Given the description of an element on the screen output the (x, y) to click on. 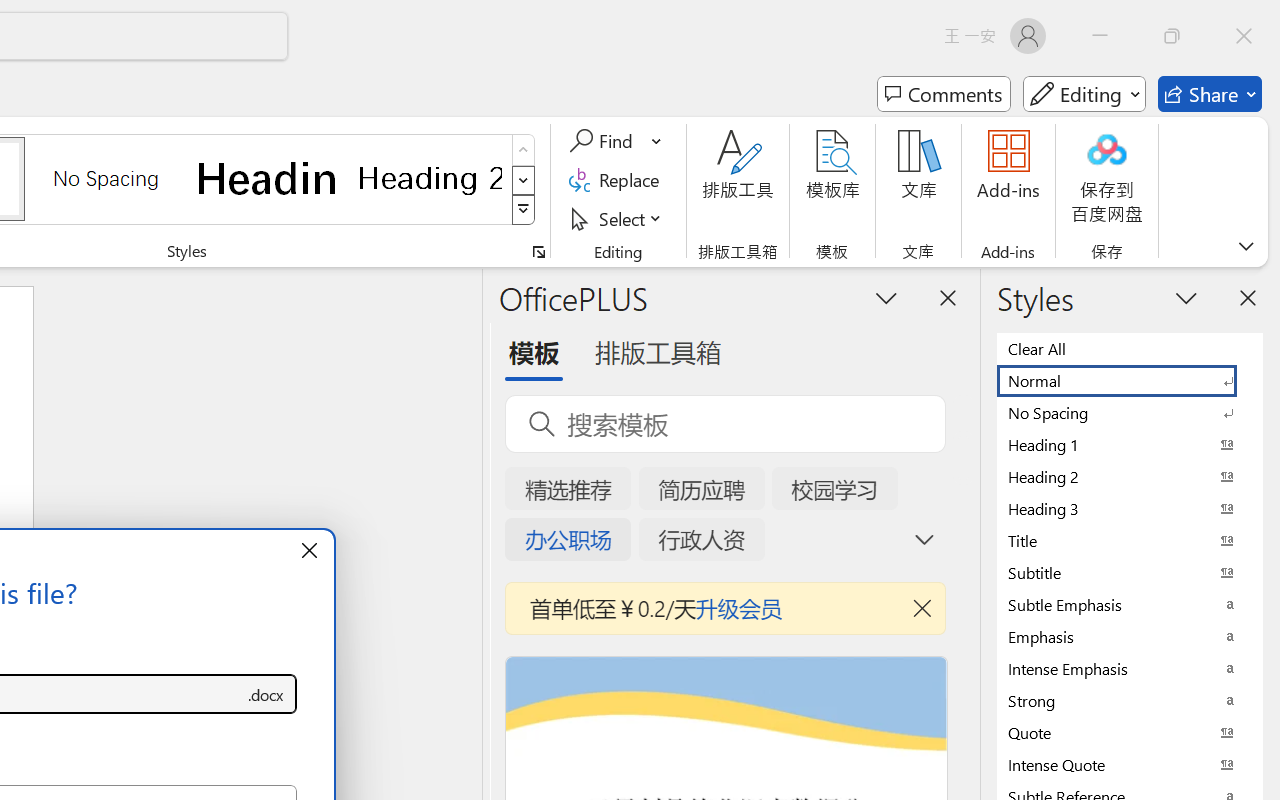
Intense Quote (1130, 764)
Strong (1130, 700)
Replace... (617, 179)
Close (1244, 36)
Clear All (1130, 348)
Styles (523, 209)
Heading 2 (429, 178)
Intense Emphasis (1130, 668)
No Spacing (1130, 412)
Find (604, 141)
More Options (657, 141)
Styles... (538, 252)
Subtle Emphasis (1130, 604)
Share (1210, 94)
